Given the description of an element on the screen output the (x, y) to click on. 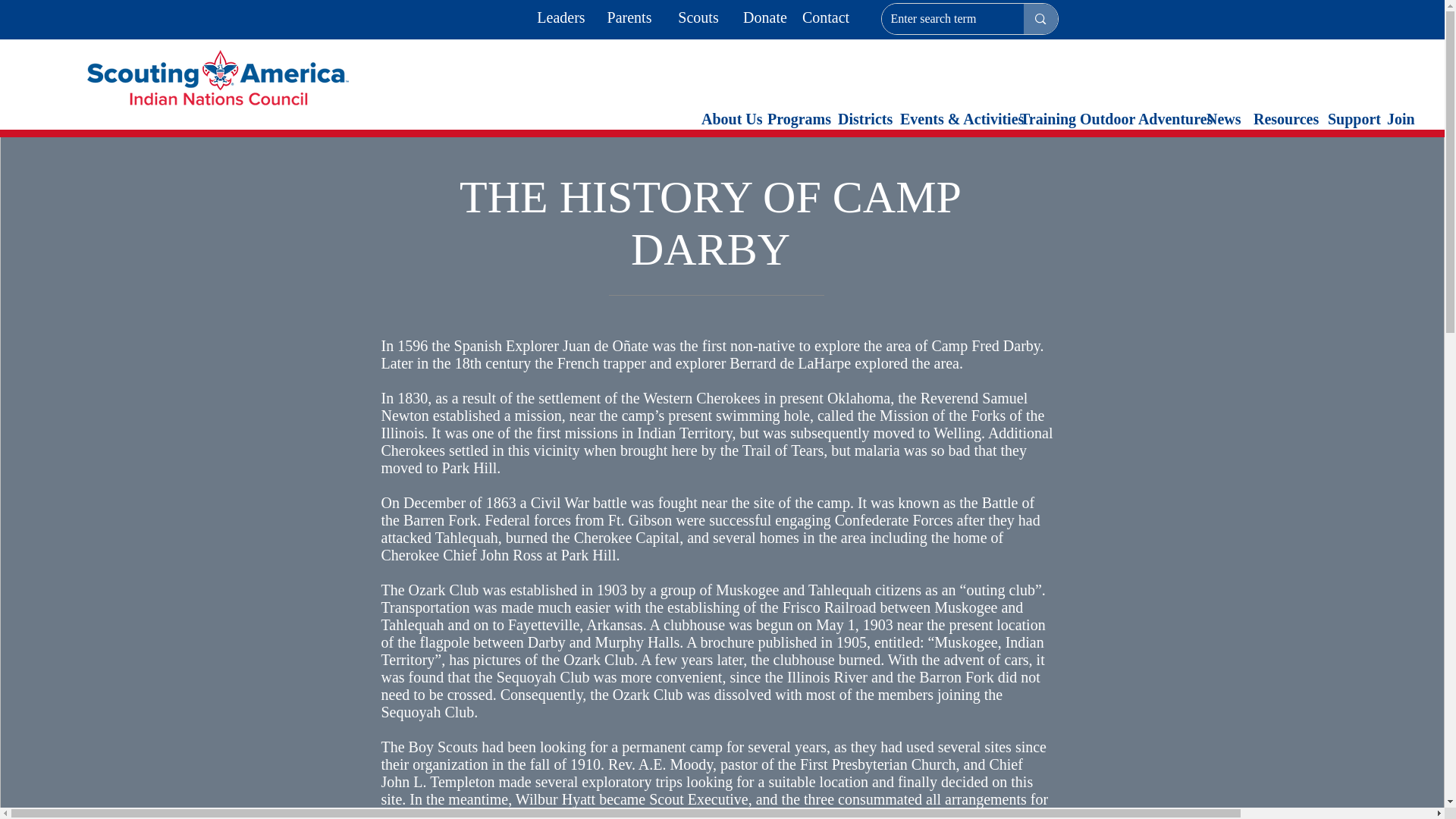
Outdoor Adventures (1134, 118)
Programs (794, 118)
Training (1041, 118)
Districts (860, 118)
